Given the description of an element on the screen output the (x, y) to click on. 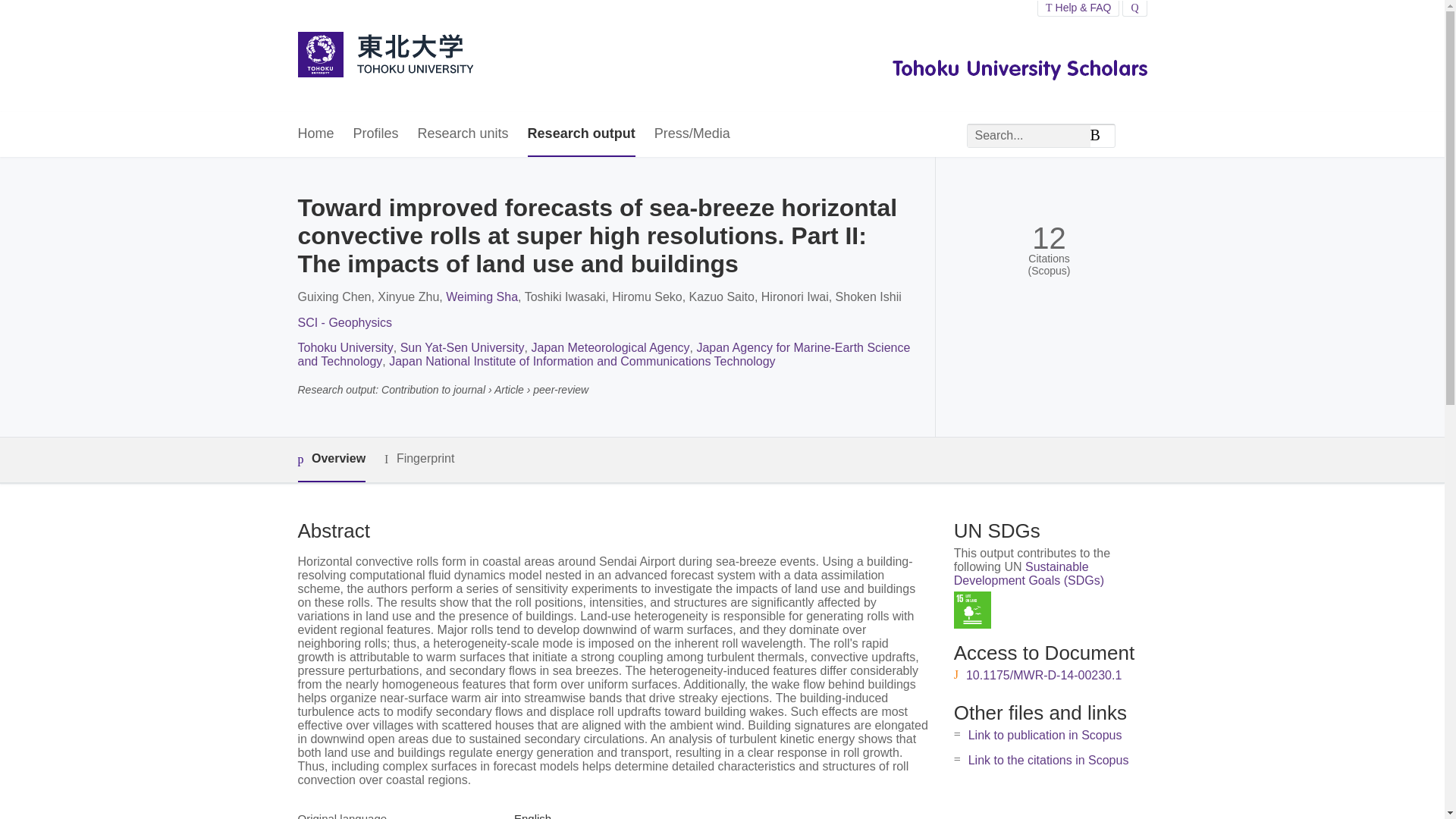
Link to publication in Scopus (1045, 735)
Weiming Sha (481, 296)
Research units (462, 134)
Sun Yat-Sen University (462, 347)
Profiles (375, 134)
Tohoku University (345, 347)
Fingerprint (419, 458)
SCI - Geophysics (344, 322)
Overview (331, 459)
Japan Agency for Marine-Earth Science and Technology (603, 354)
Research output (580, 134)
Link to the citations in Scopus (1048, 759)
Tohoku University Home (384, 55)
Japan Meteorological Agency (609, 347)
